Given the description of an element on the screen output the (x, y) to click on. 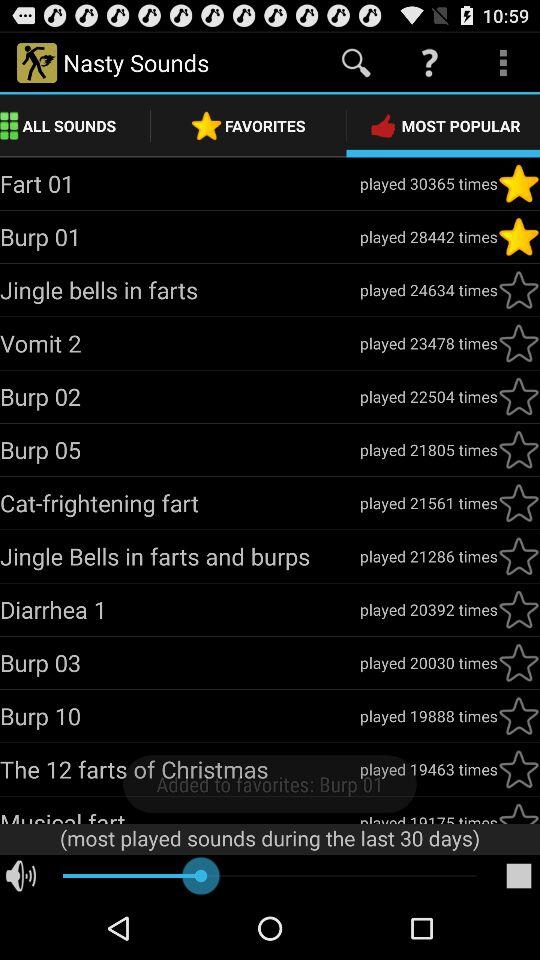
add to favorites (519, 290)
